Given the description of an element on the screen output the (x, y) to click on. 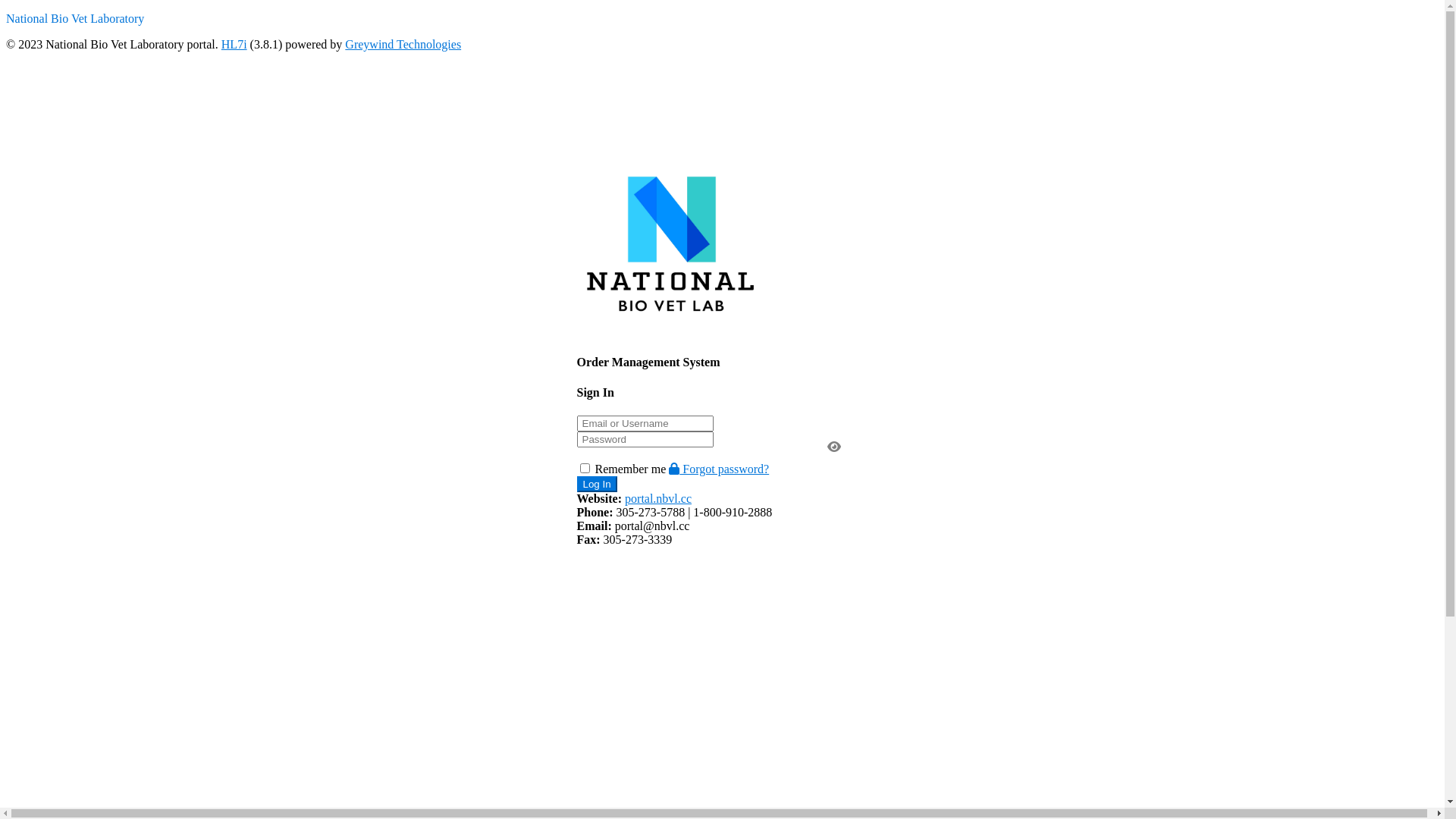
Forgot password? Element type: text (718, 468)
View Password Element type: hover (833, 446)
HL7i Element type: text (234, 43)
Log In Element type: text (596, 484)
portal.nbvl.cc Element type: text (657, 498)
Greywind Technologies Element type: text (403, 43)
